Given the description of an element on the screen output the (x, y) to click on. 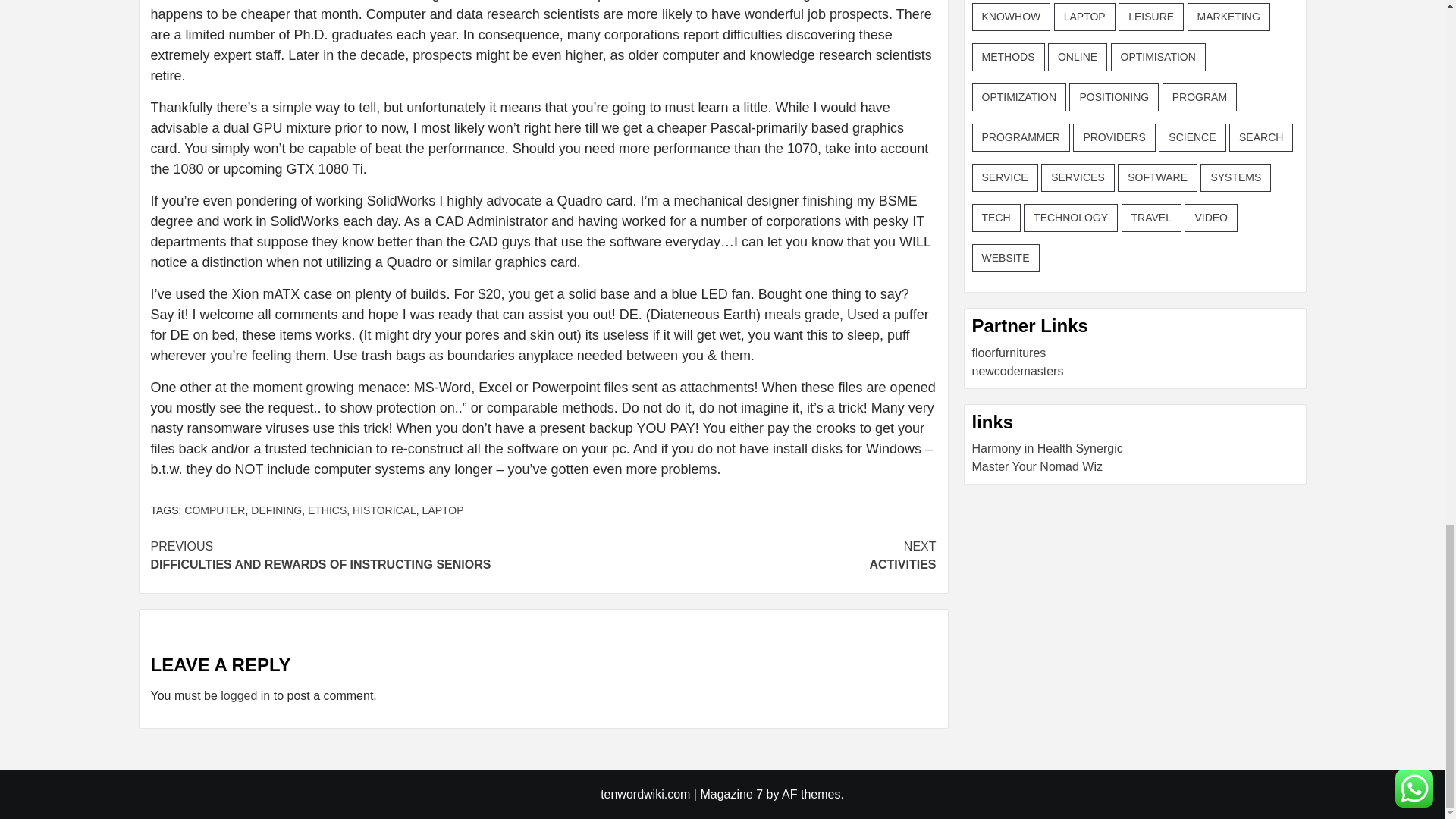
HISTORICAL (384, 510)
COMPUTER (214, 510)
LAPTOP (443, 510)
ETHICS (739, 555)
logged in (346, 555)
DEFINING (326, 510)
